Given the description of an element on the screen output the (x, y) to click on. 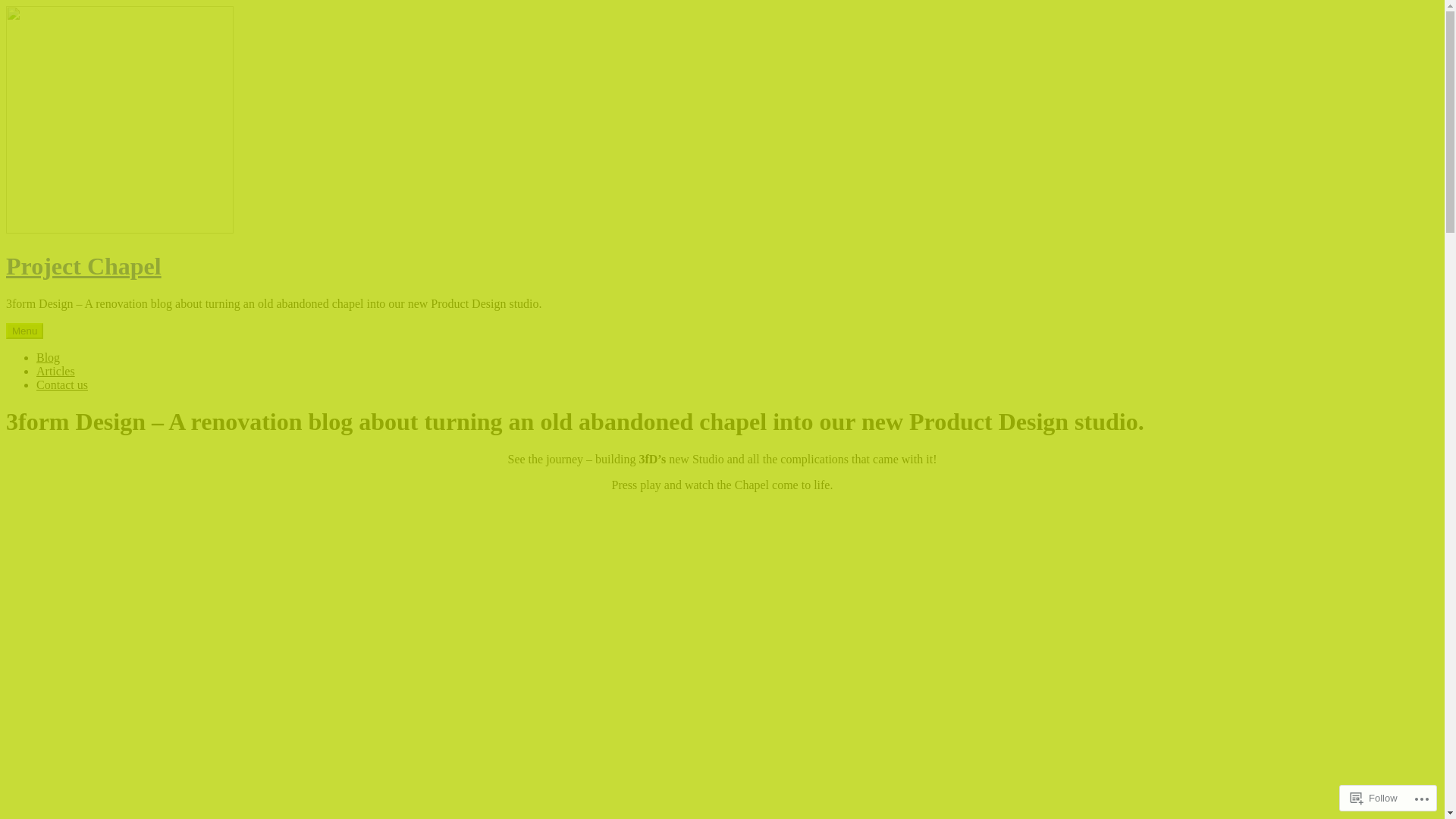
Follow Element type: text (1373, 797)
Skip to content Element type: text (5, 5)
Articles Element type: text (55, 370)
Menu Element type: text (24, 330)
Blog Element type: text (47, 357)
Project Chapel Element type: text (83, 265)
Contact us Element type: text (61, 384)
